Given the description of an element on the screen output the (x, y) to click on. 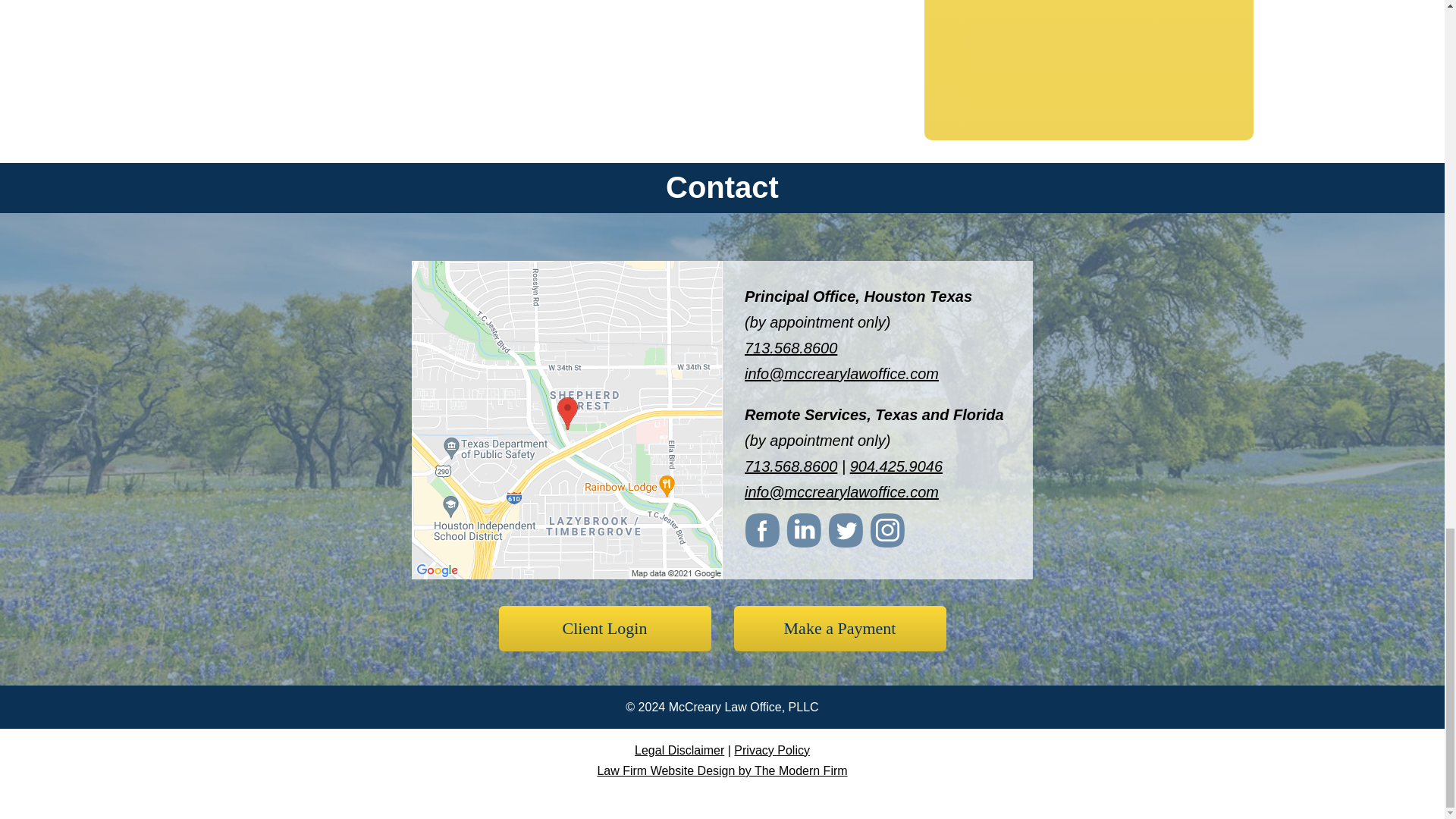
Disclaimer (678, 749)
Law Firm Website Design (721, 770)
Click to view this map on Google Maps (567, 572)
